Given the description of an element on the screen output the (x, y) to click on. 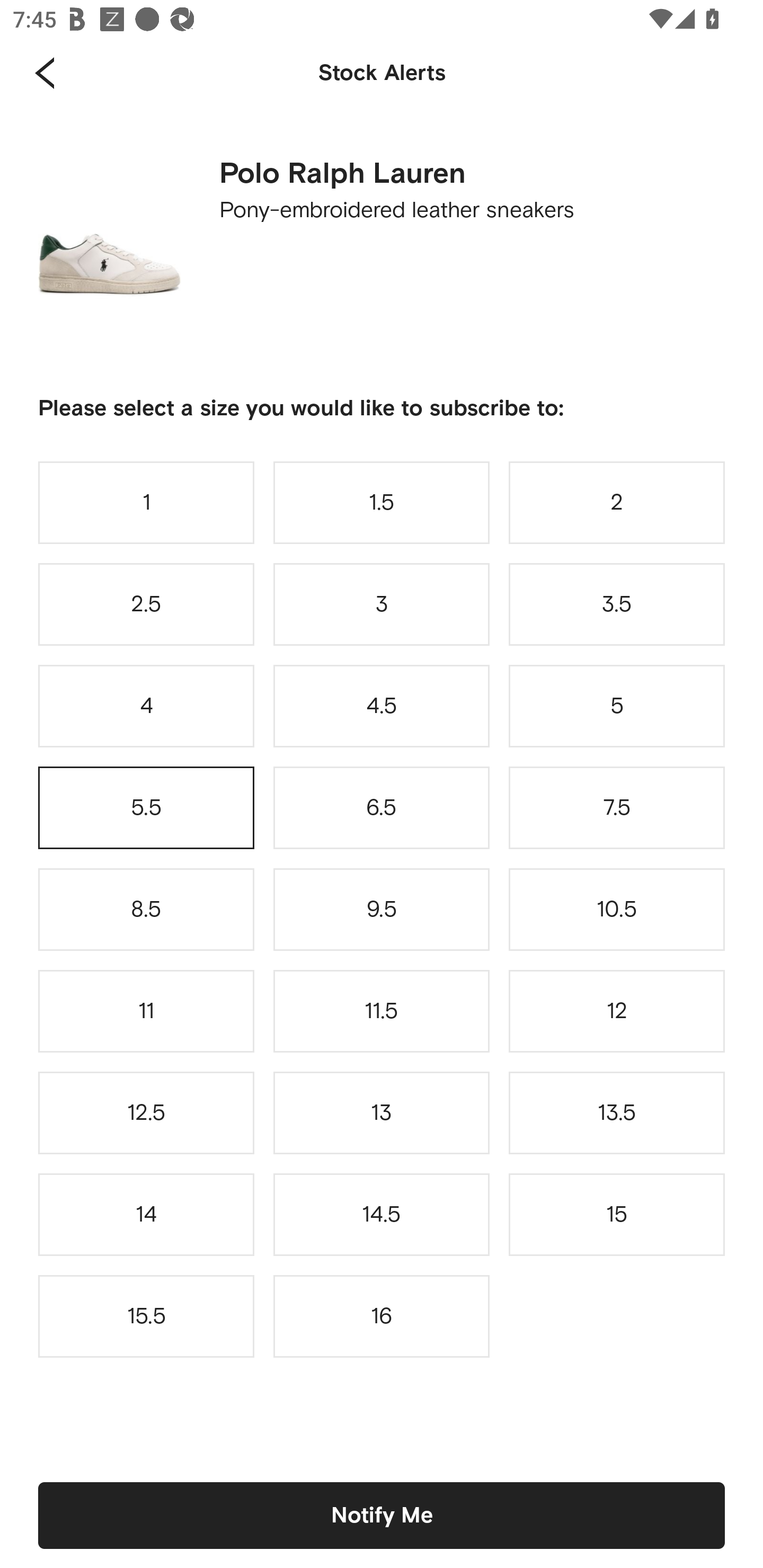
1 (146, 502)
1.5 (381, 502)
2 (616, 502)
2.5 (146, 604)
3 (381, 604)
3.5 (616, 604)
4 (146, 705)
4.5 (381, 705)
5 (616, 705)
5.5 (146, 807)
6.5 (381, 807)
7.5 (616, 807)
8.5 (146, 909)
9.5 (381, 909)
10.5 (616, 909)
11 (146, 1011)
11.5 (381, 1011)
12 (616, 1011)
12.5 (146, 1112)
13 (381, 1112)
13.5 (616, 1112)
14 (146, 1213)
14.5 (381, 1213)
15 (616, 1213)
15.5 (146, 1315)
16 (381, 1315)
Notify Me (381, 1515)
